Given the description of an element on the screen output the (x, y) to click on. 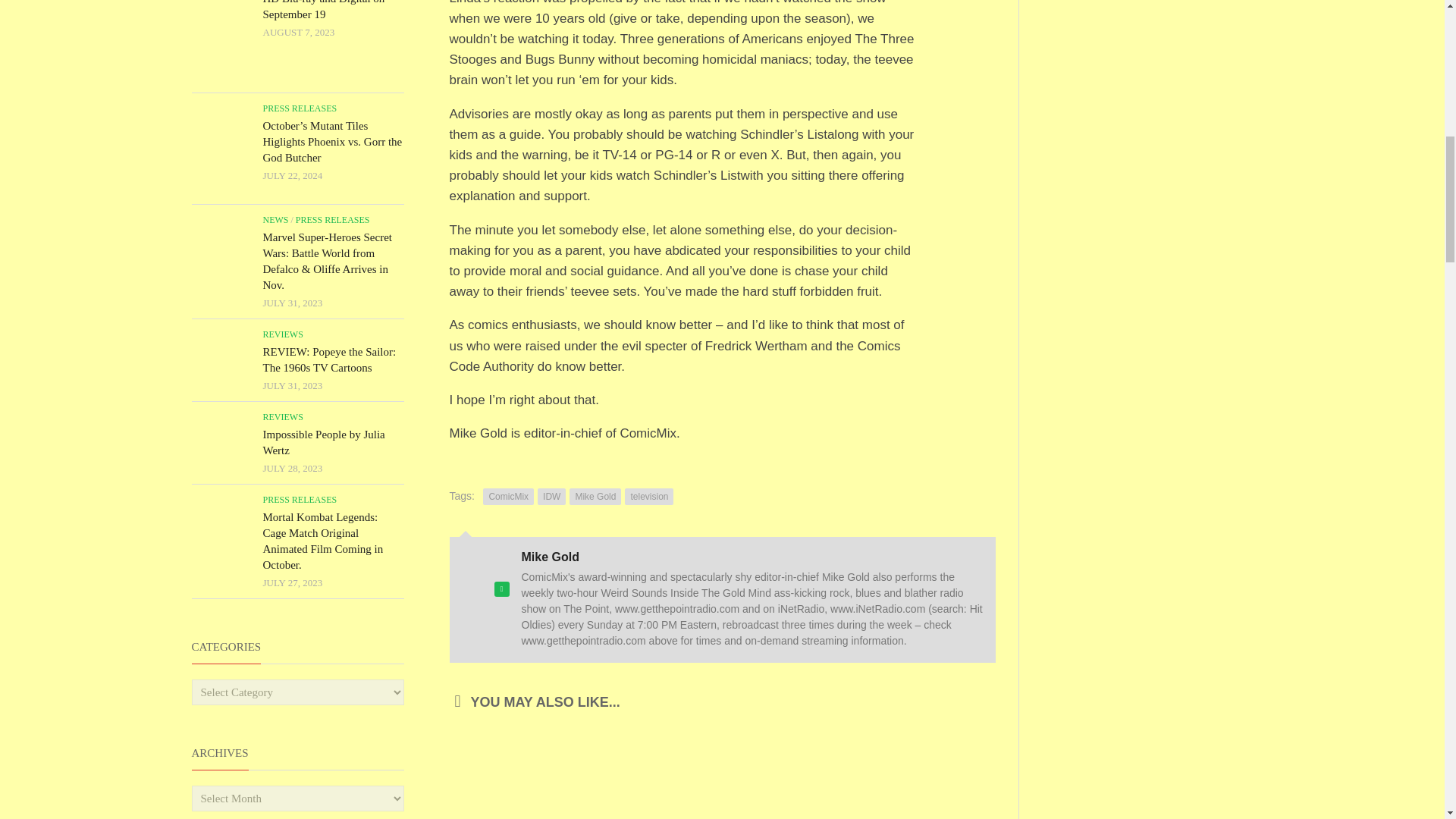
ComicMix (508, 496)
Mike Gold (595, 496)
television (648, 496)
IDW (551, 496)
